Given the description of an element on the screen output the (x, y) to click on. 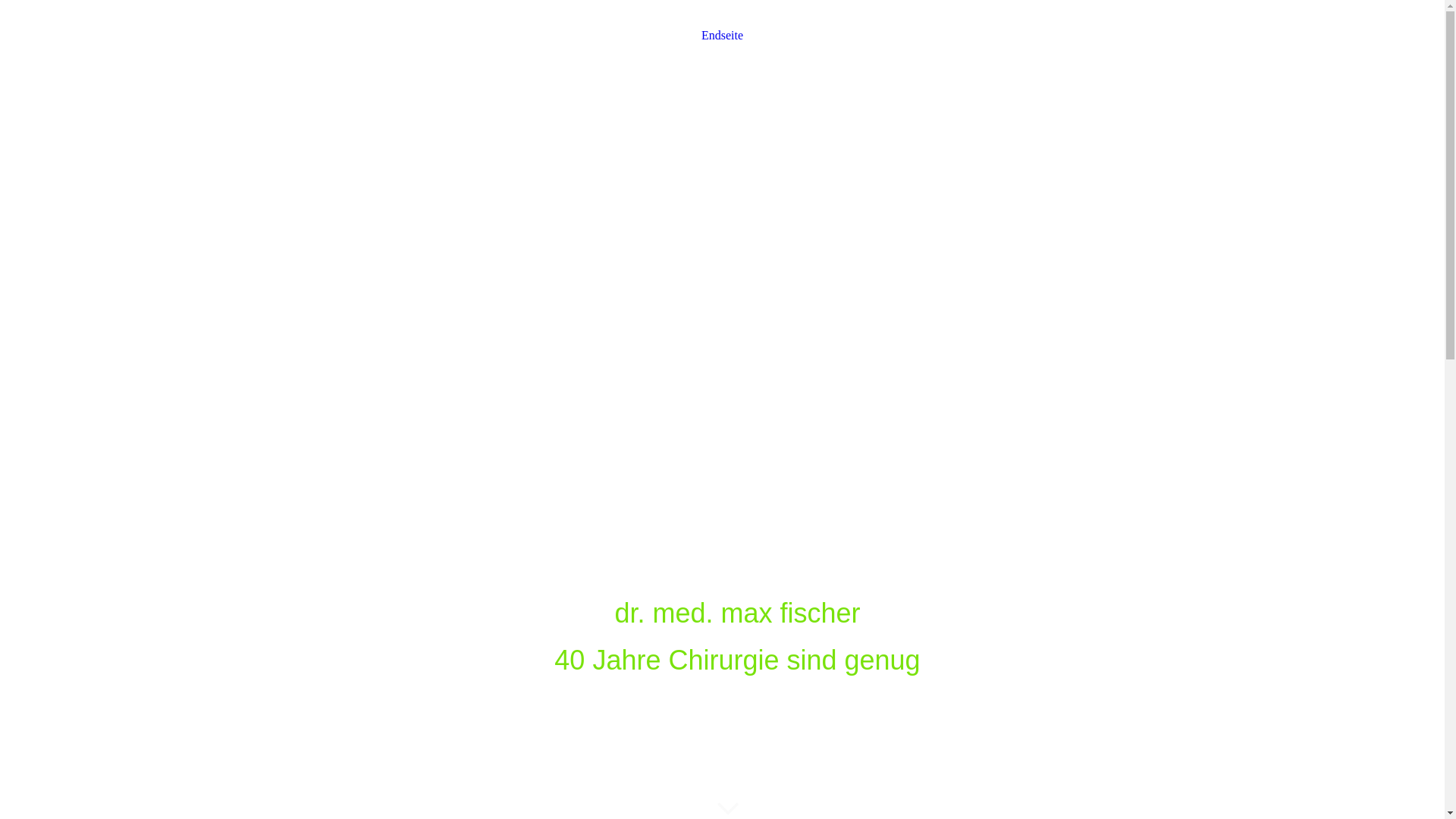
Endseite Element type: text (722, 38)
